Given the description of an element on the screen output the (x, y) to click on. 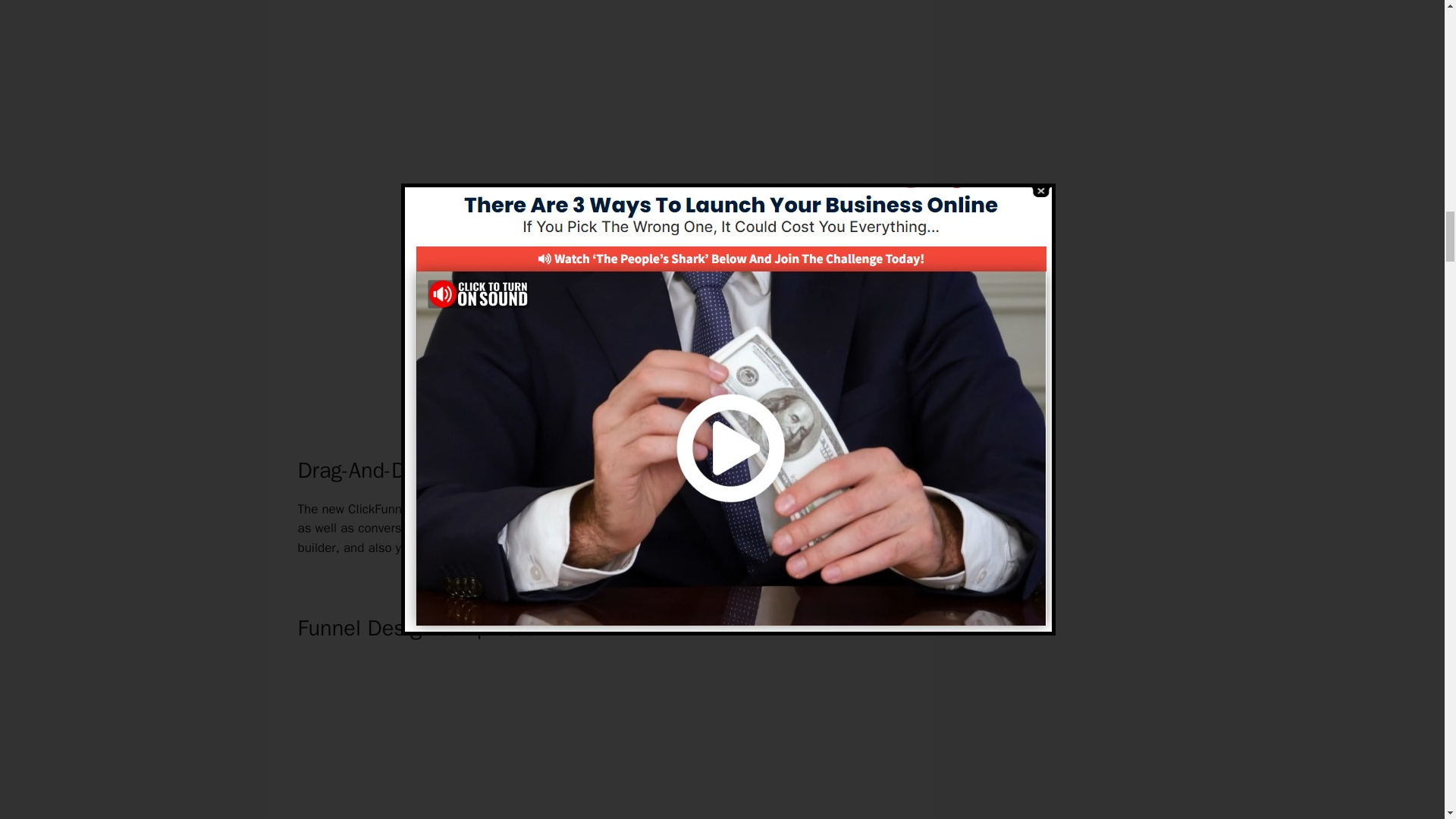
Explore Here (600, 414)
